Given the description of an element on the screen output the (x, y) to click on. 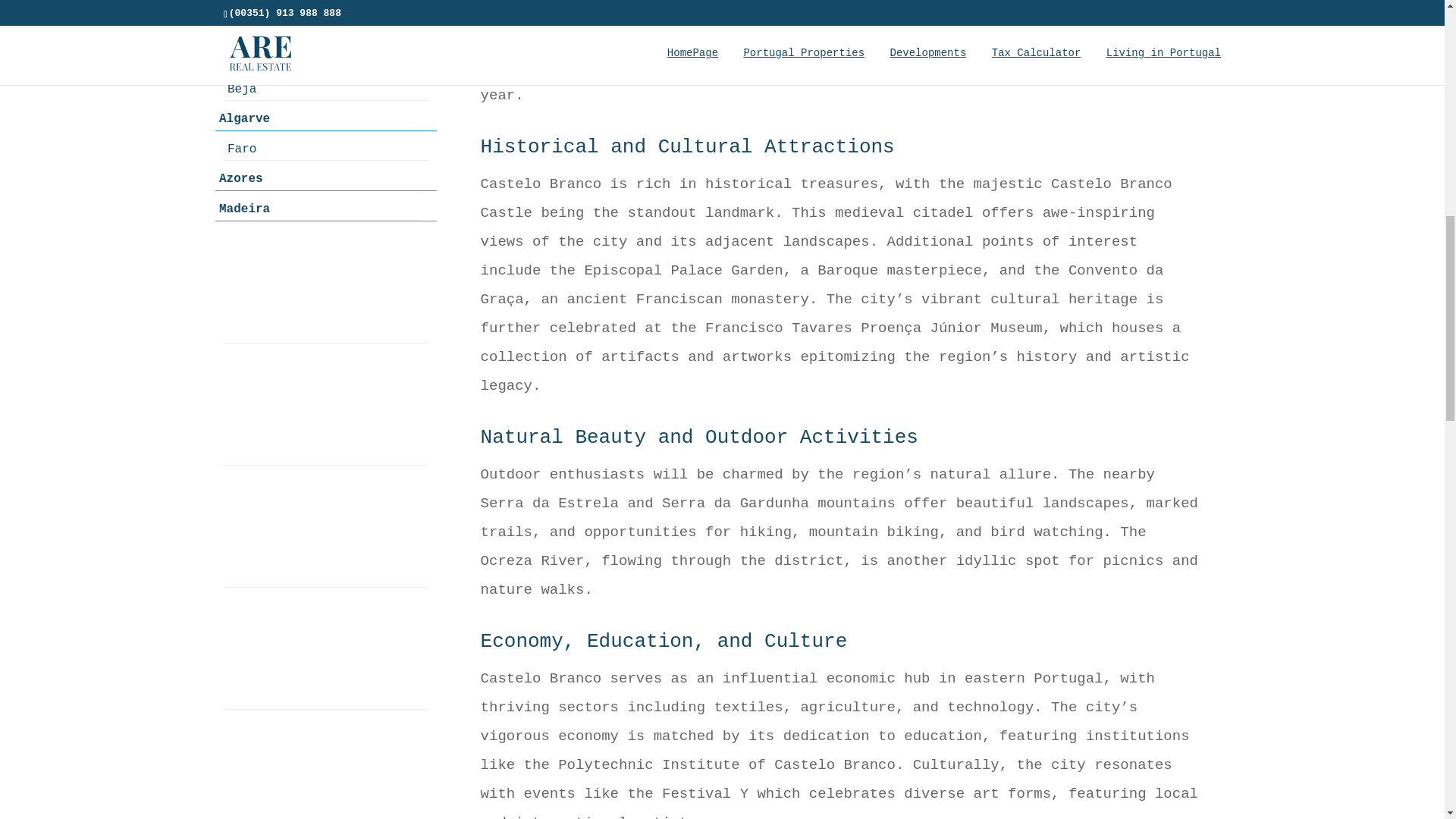
Faro (326, 148)
Algarve (317, 118)
Madeira (317, 208)
Azores (317, 178)
Portalegre (326, 59)
Alentejo (317, 5)
Beja (326, 88)
